Given the description of an element on the screen output the (x, y) to click on. 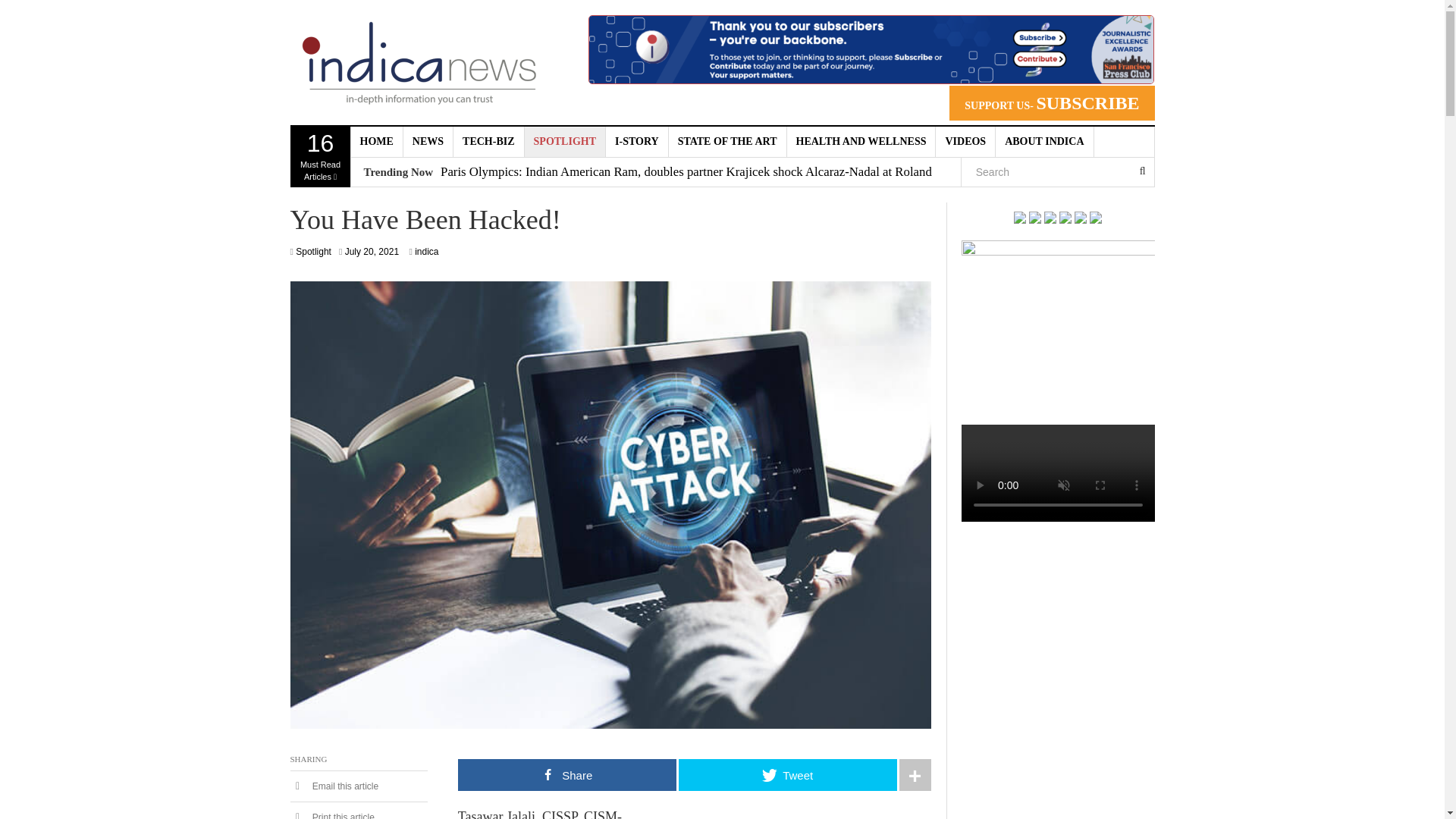
I-STORY (636, 141)
SPOTLIGHT (564, 141)
SUPPORT US- SUBSCRIBE (1051, 102)
Spotlight (313, 251)
TECH-BIZ (488, 141)
indica (426, 251)
HOME (376, 141)
HEALTH AND WELLNESS (861, 141)
ABOUT INDICA (1044, 141)
indica News (319, 156)
STATE OF THE ART (418, 62)
VIDEOS (727, 141)
Tweet (965, 141)
